Given the description of an element on the screen output the (x, y) to click on. 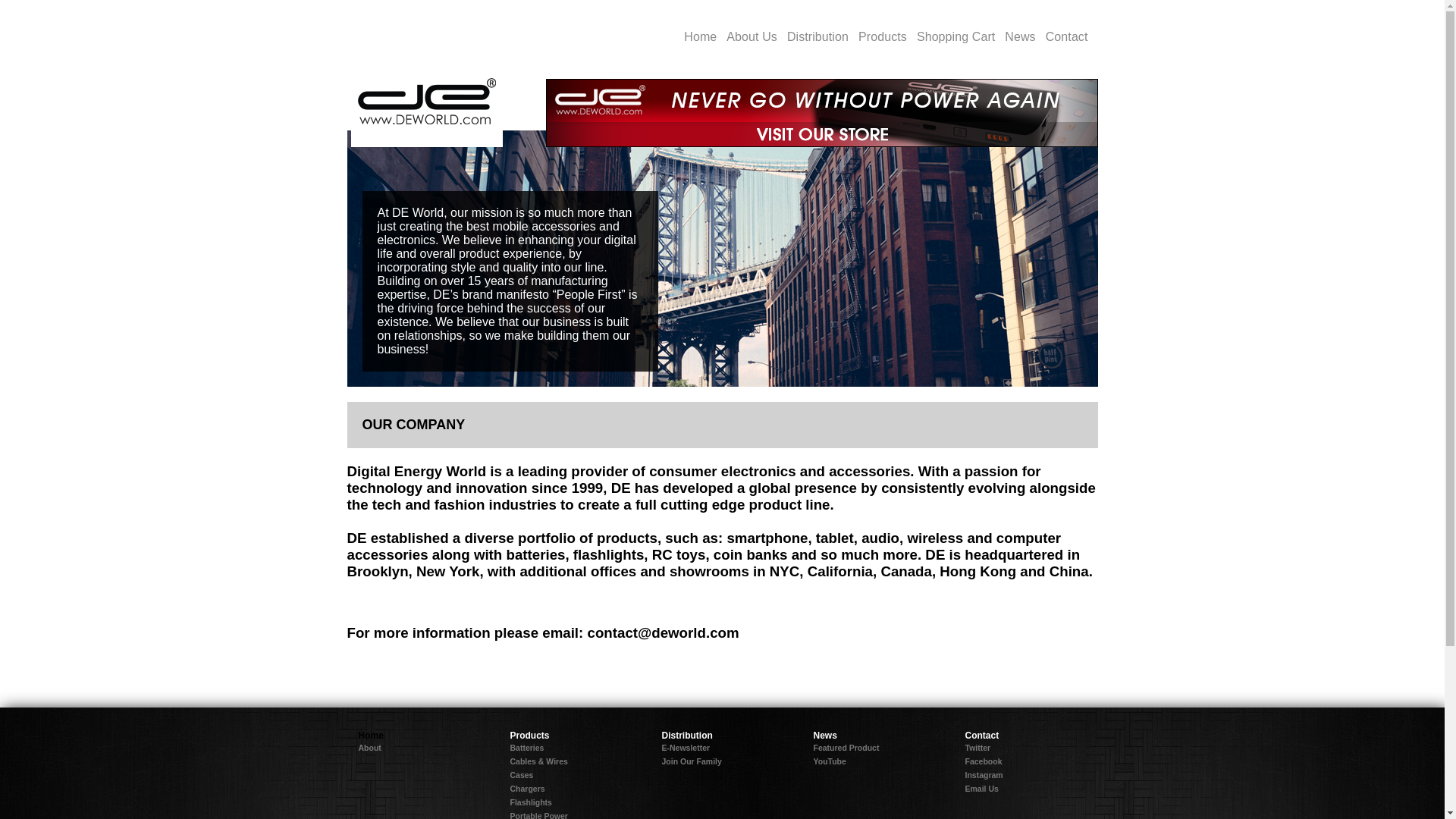
Flashlights (530, 801)
Home (370, 735)
Cases (520, 774)
Distribution (686, 735)
News (823, 735)
E-Newsletter (685, 747)
Join Our Family (690, 760)
News (1024, 41)
Featured Product (845, 747)
About (369, 747)
